Given the description of an element on the screen output the (x, y) to click on. 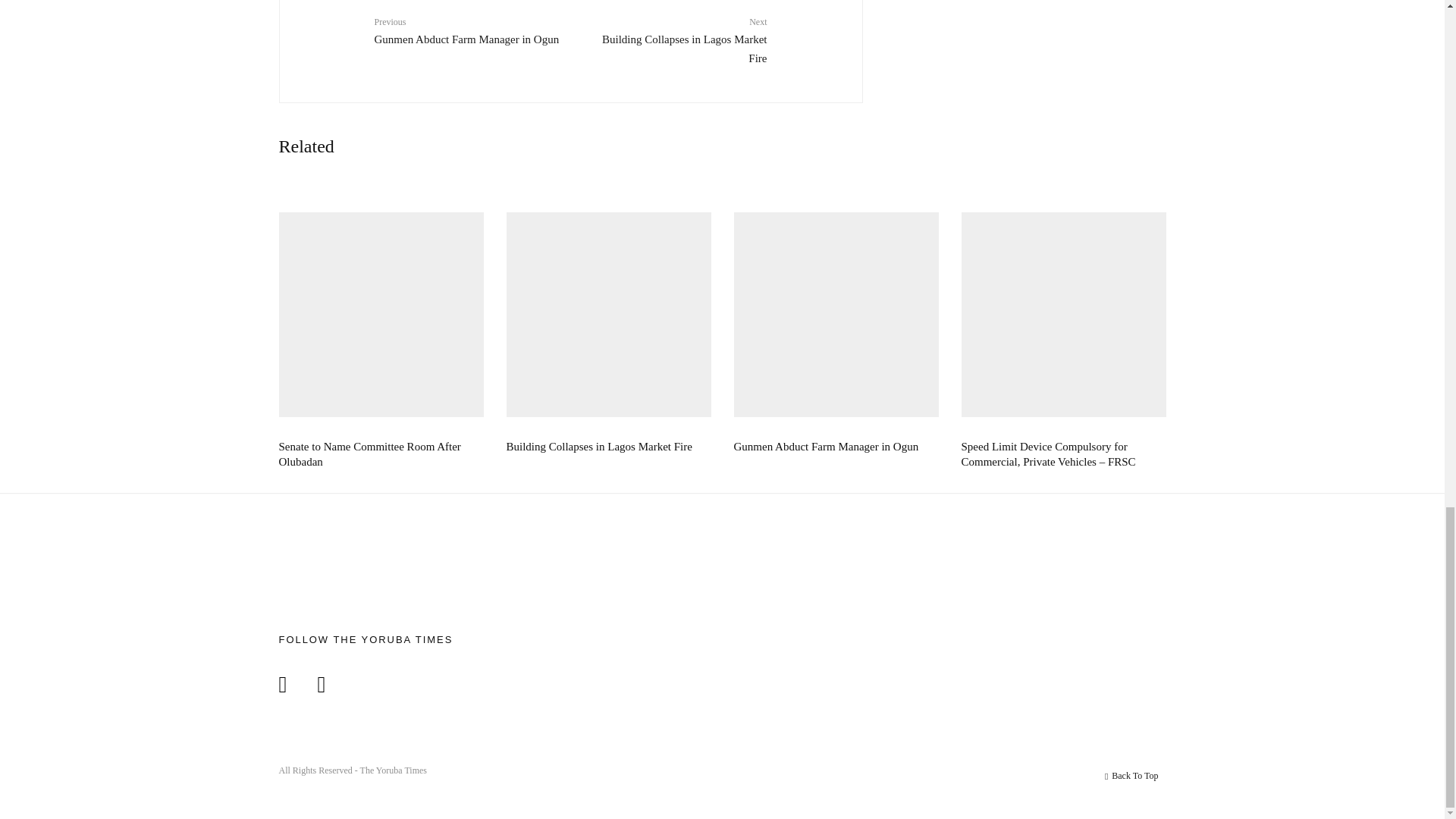
Building Collapses in Lagos Market Fire (599, 447)
Gunmen Abduct Farm Manager in Ogun (825, 447)
Back To Top (1131, 776)
Senate to Name Committee Room After Olubadan (466, 30)
